Given the description of an element on the screen output the (x, y) to click on. 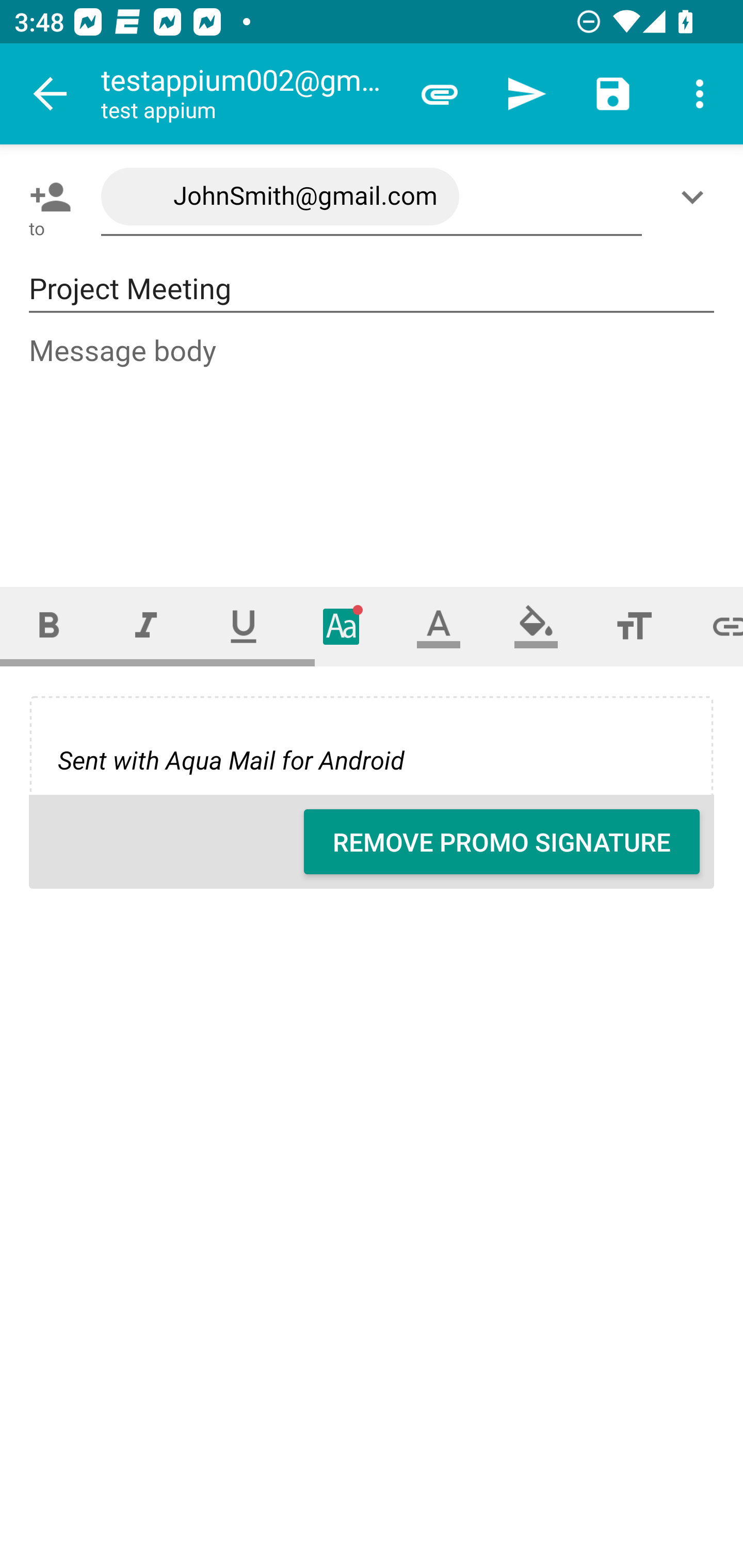
Navigate up (50, 93)
testappium002@gmail.com test appium (248, 93)
Attach (439, 93)
Send (525, 93)
Save (612, 93)
More options (699, 93)
JohnSmith@gmail.com,  (371, 197)
Pick contact: To (46, 196)
Show/Add CC/BCC (696, 196)
Project Meeting (371, 288)
Message body (372, 442)
Bold (48, 626)
Italic (145, 626)
Underline (243, 626)
Typeface (font) (341, 626)
Text color (438, 626)
Fill color (536, 626)
Font size (633, 626)
Set link (712, 626)
REMOVE PROMO SIGNATURE (501, 841)
